Given the description of an element on the screen output the (x, y) to click on. 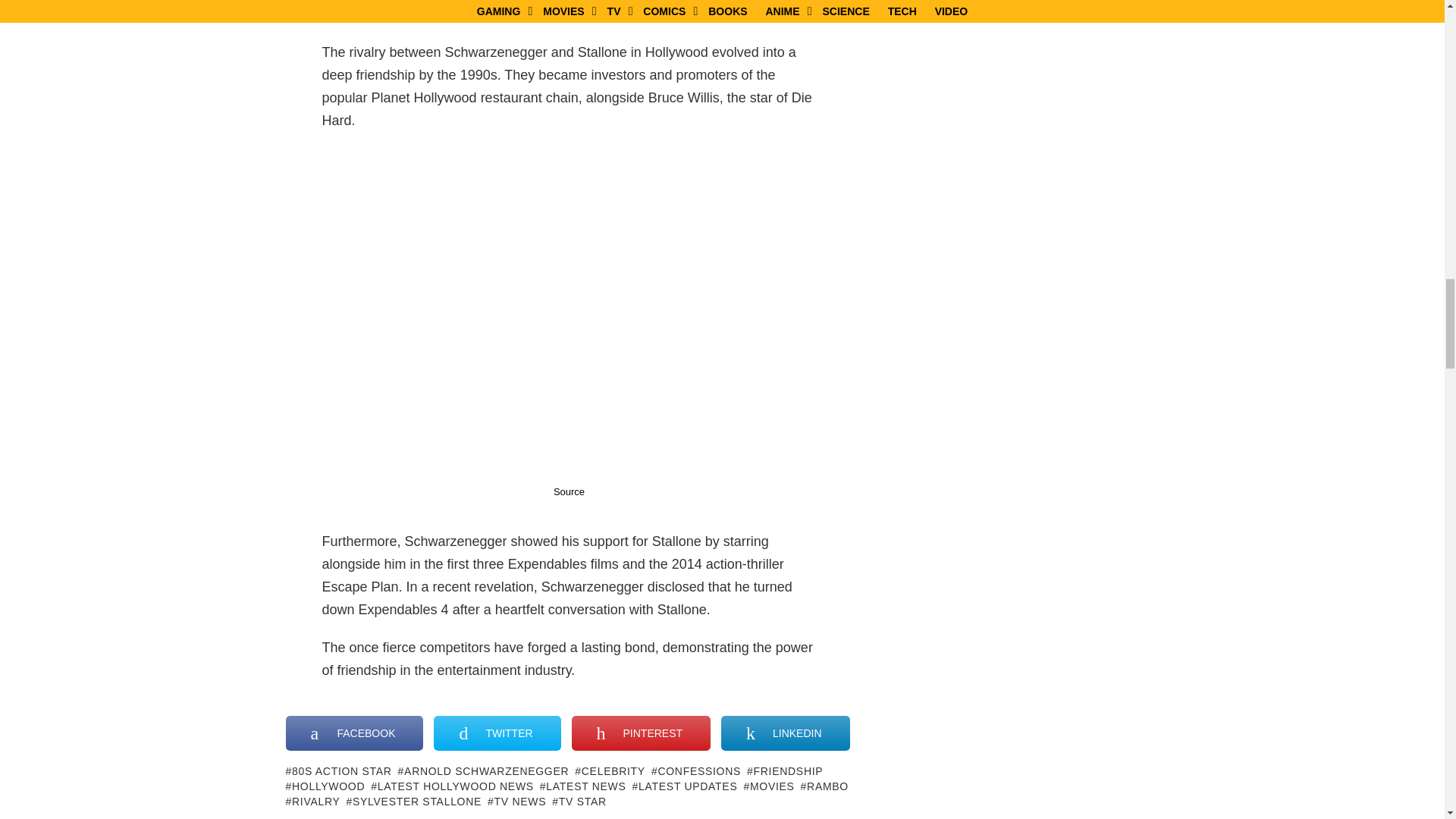
Share on Pinterest (641, 733)
Share on Twitter (496, 733)
Share on Facebook (354, 733)
Share on LinkedIn (784, 733)
